Given the description of an element on the screen output the (x, y) to click on. 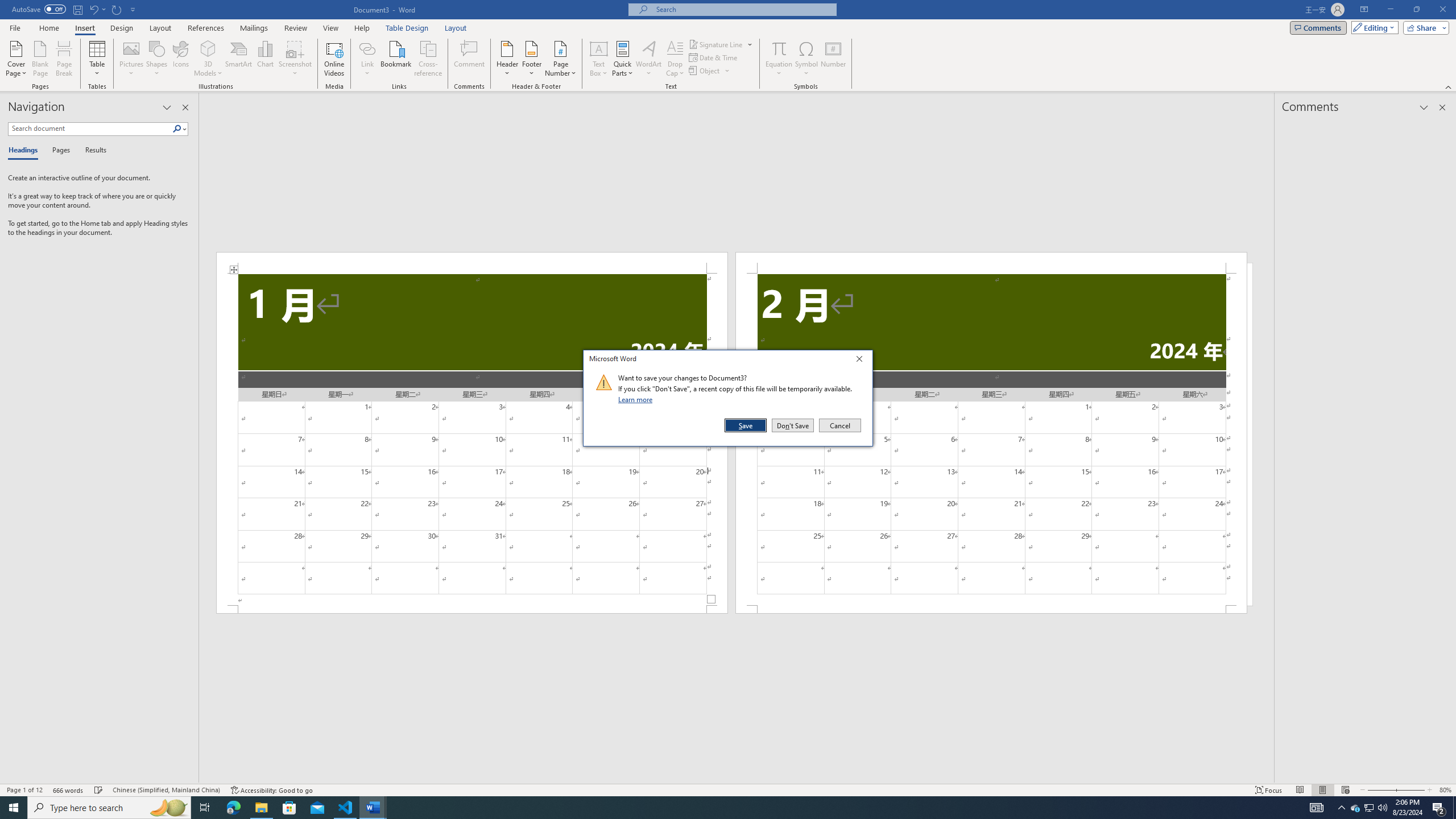
Header (507, 58)
Search highlights icon opens search home window (167, 807)
Link (367, 48)
Search (179, 128)
Focus  (1268, 790)
Cross-reference... (428, 58)
Close (862, 360)
Equation (778, 48)
Collapse the Ribbon (1448, 86)
3D Models (208, 58)
Customize Quick Access Toolbar (133, 9)
Page Number (560, 58)
File Tab (15, 27)
Microsoft Store (289, 807)
Design (122, 28)
